Given the description of an element on the screen output the (x, y) to click on. 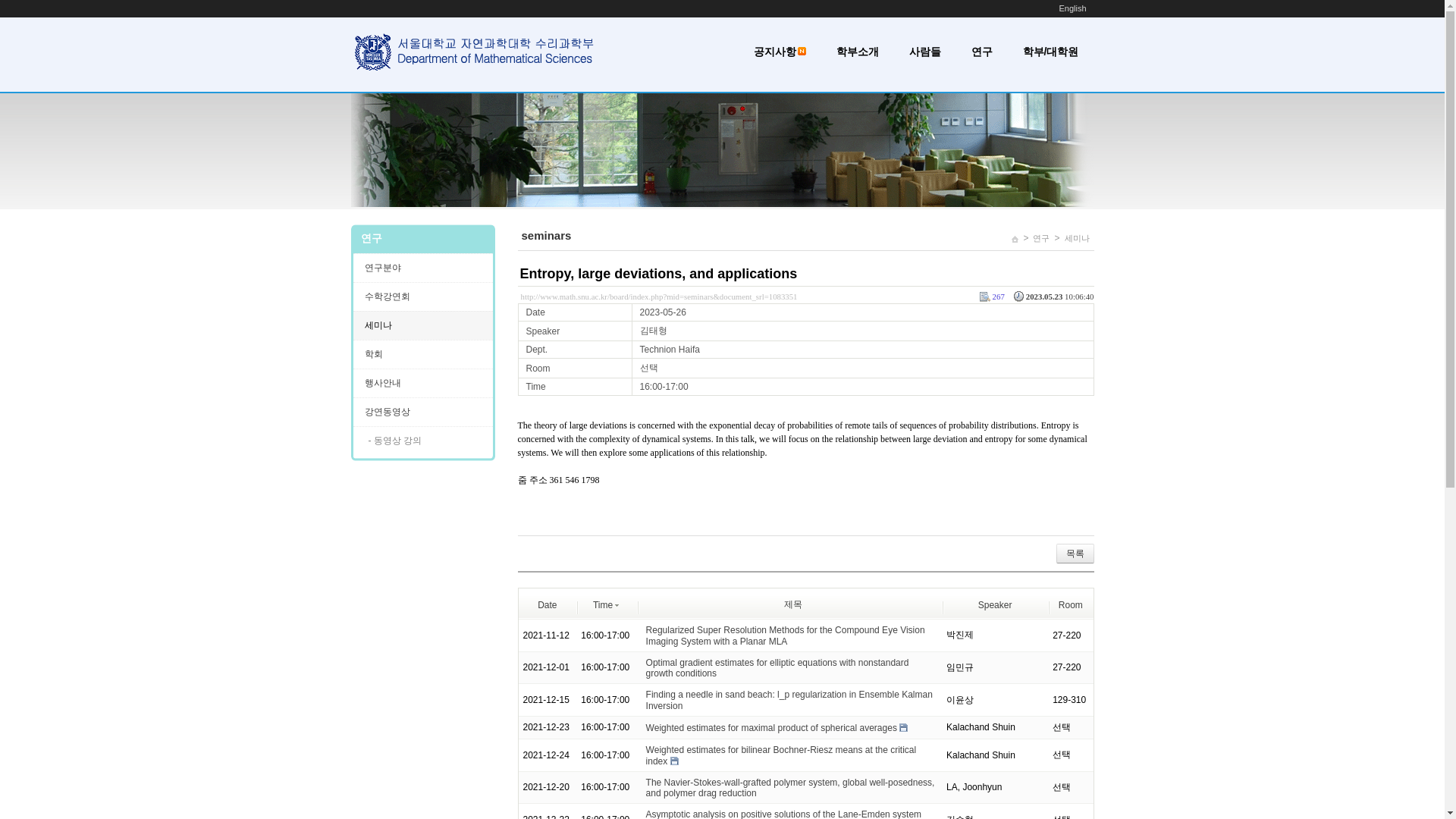
file (673, 760)
new (801, 50)
Date (546, 603)
Time (606, 603)
Speaker (994, 603)
file (903, 727)
Entropy, large deviations, and applications (658, 273)
English (1072, 8)
Room (1070, 603)
Weighted estimates for maximal product of spherical averages (771, 727)
